Given the description of an element on the screen output the (x, y) to click on. 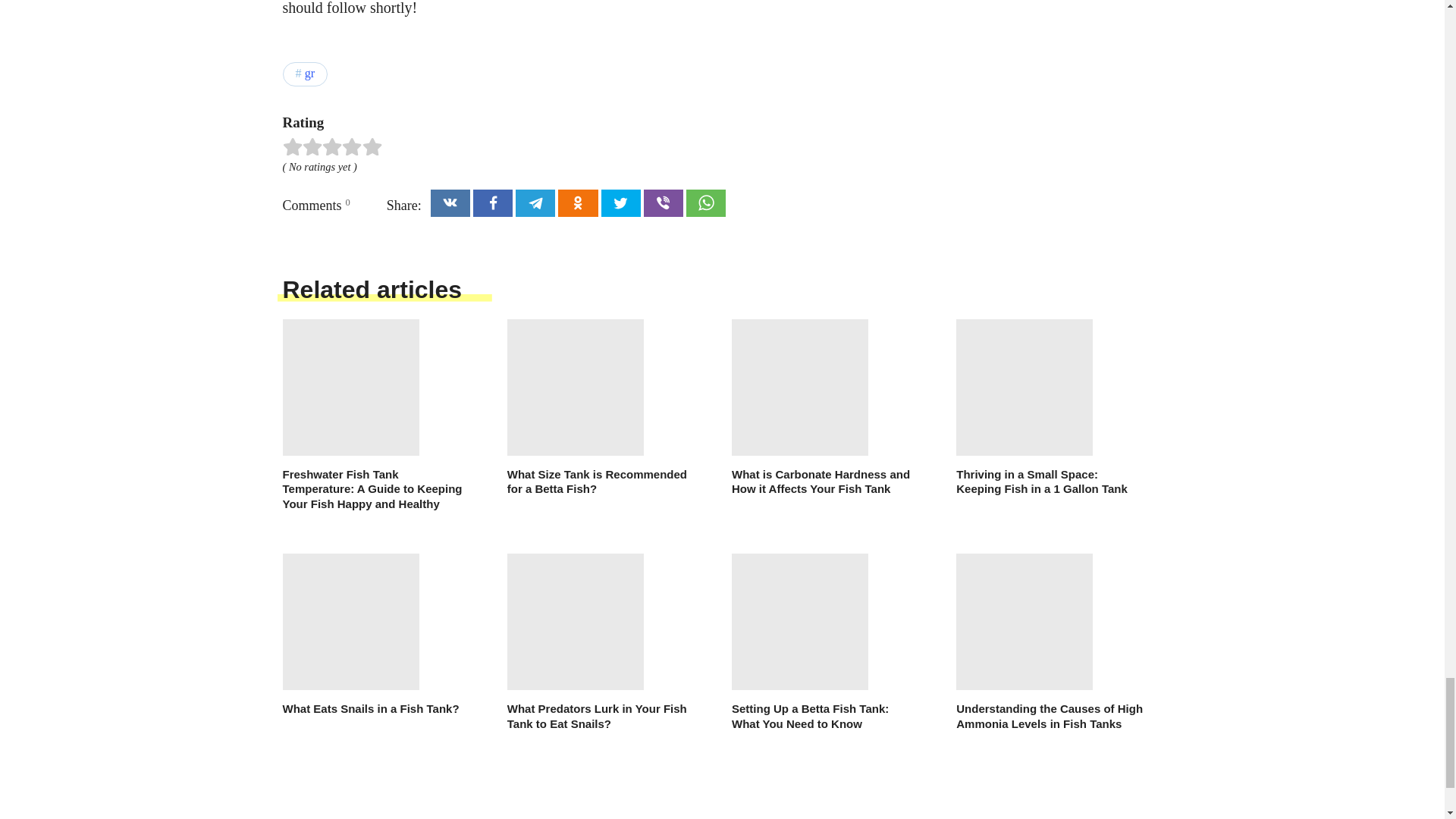
What Predators Lurk in Your Fish Tank to Eat Snails? (600, 642)
Setting Up a Betta Fish Tank: What You Need to Know (825, 642)
What is Carbonate Hardness and How it Affects Your Fish Tank (825, 407)
gr (304, 73)
What Size Tank is Recommended for a Betta Fish? (600, 407)
What Eats Snails in a Fish Tank? (375, 634)
Thriving in a Small Space: Keeping Fish in a 1 Gallon Tank (1049, 407)
